Given the description of an element on the screen output the (x, y) to click on. 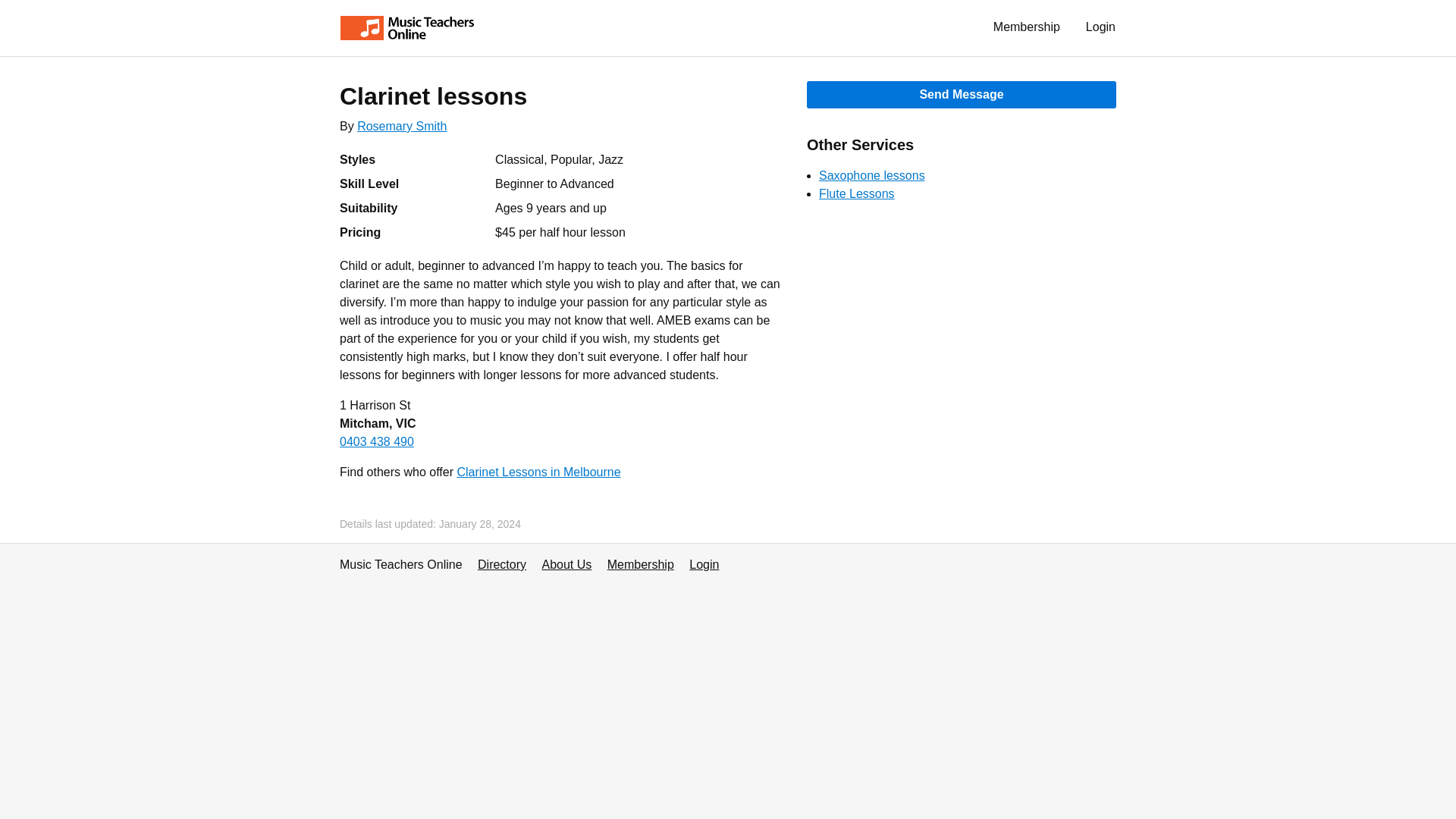
Login (1100, 26)
About Us (566, 563)
0403 438 490 (376, 440)
Directory (501, 563)
Flute Lessons (856, 193)
Login (703, 563)
Saxophone lessons (871, 174)
Clarinet Lessons in Melbourne (538, 472)
Rosemary Smith (401, 125)
Membership (1026, 26)
Membership (640, 563)
Send Message (961, 94)
